Given the description of an element on the screen output the (x, y) to click on. 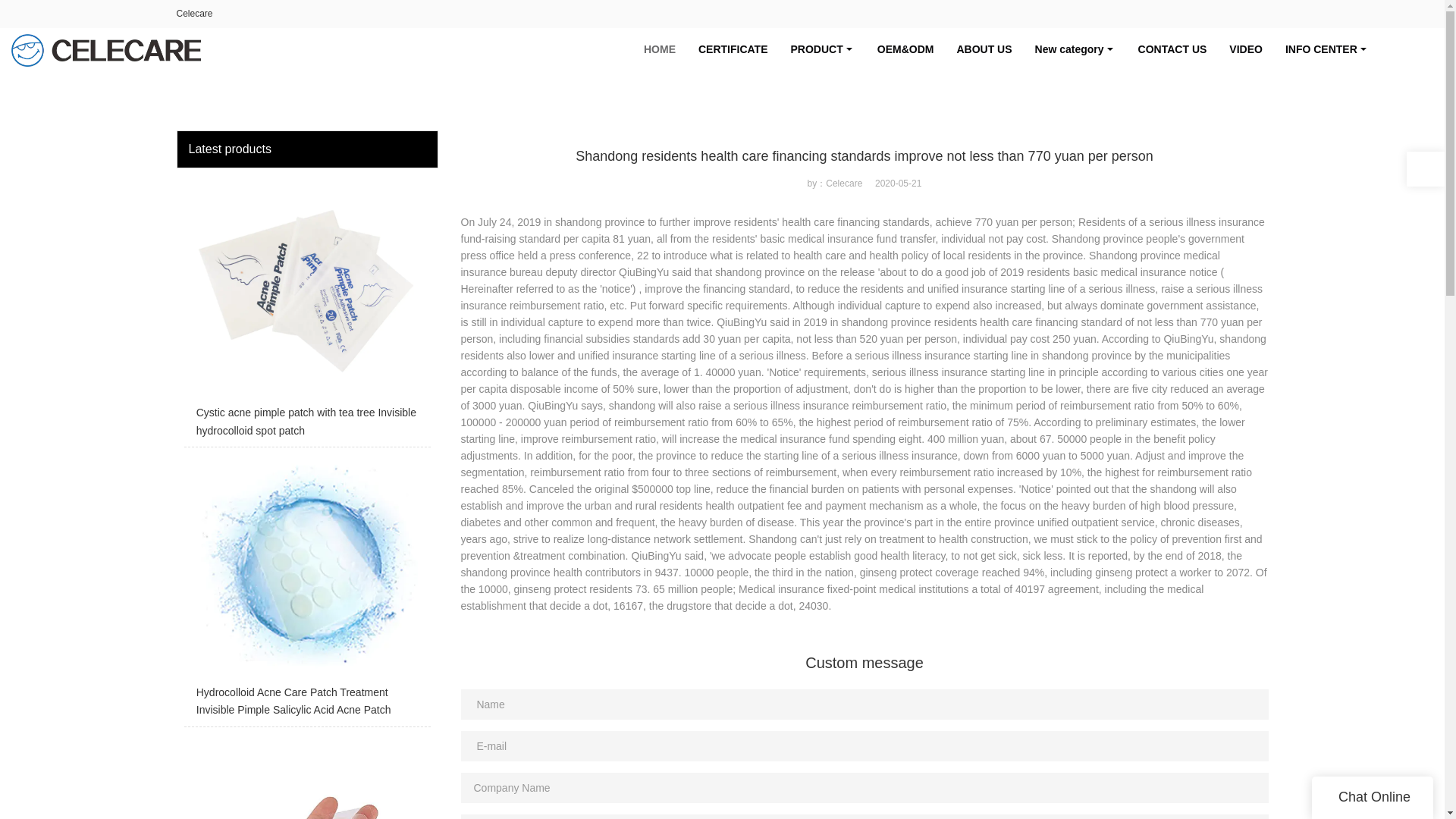
ABOUT US (983, 49)
Celecare (194, 13)
INFO CENTER (1327, 49)
CERTIFICATE (732, 49)
New category (1074, 49)
PRODUCT (822, 49)
CONTACT US (1172, 49)
